Given the description of an element on the screen output the (x, y) to click on. 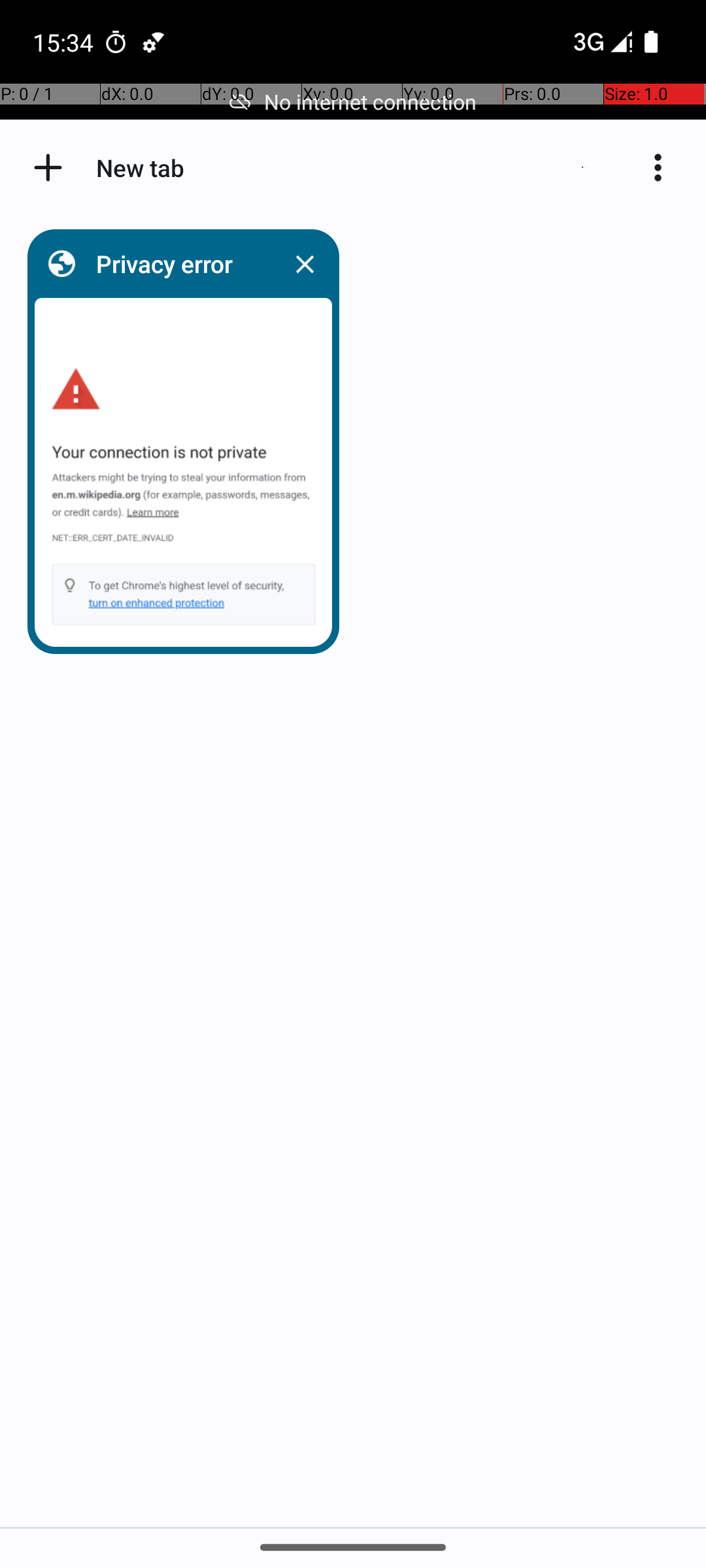
Close Privacy error tab Element type: android.widget.ImageView (304, 263)
Android System notification: Wi‑Fi will turn on automatically Element type: android.widget.ImageView (153, 41)
